Given the description of an element on the screen output the (x, y) to click on. 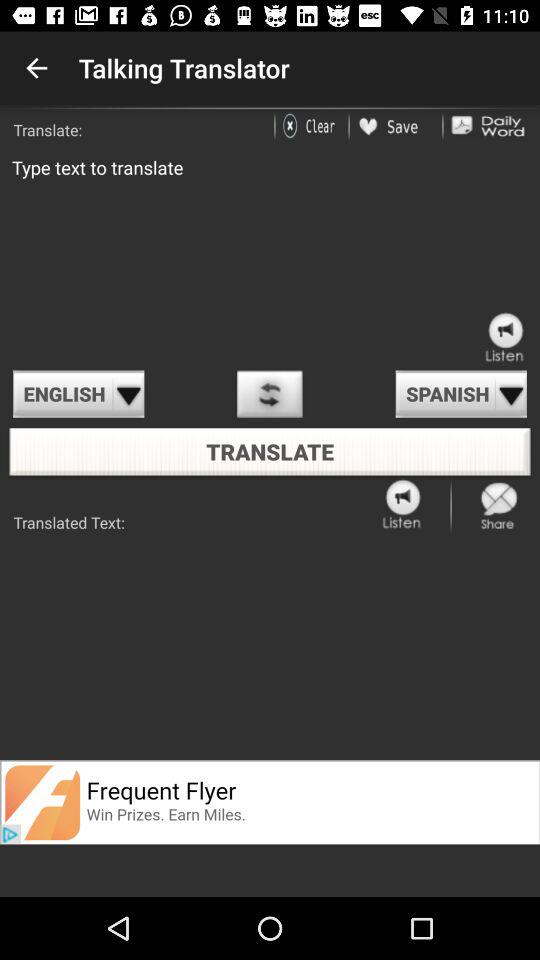
typing box (269, 254)
